Given the description of an element on the screen output the (x, y) to click on. 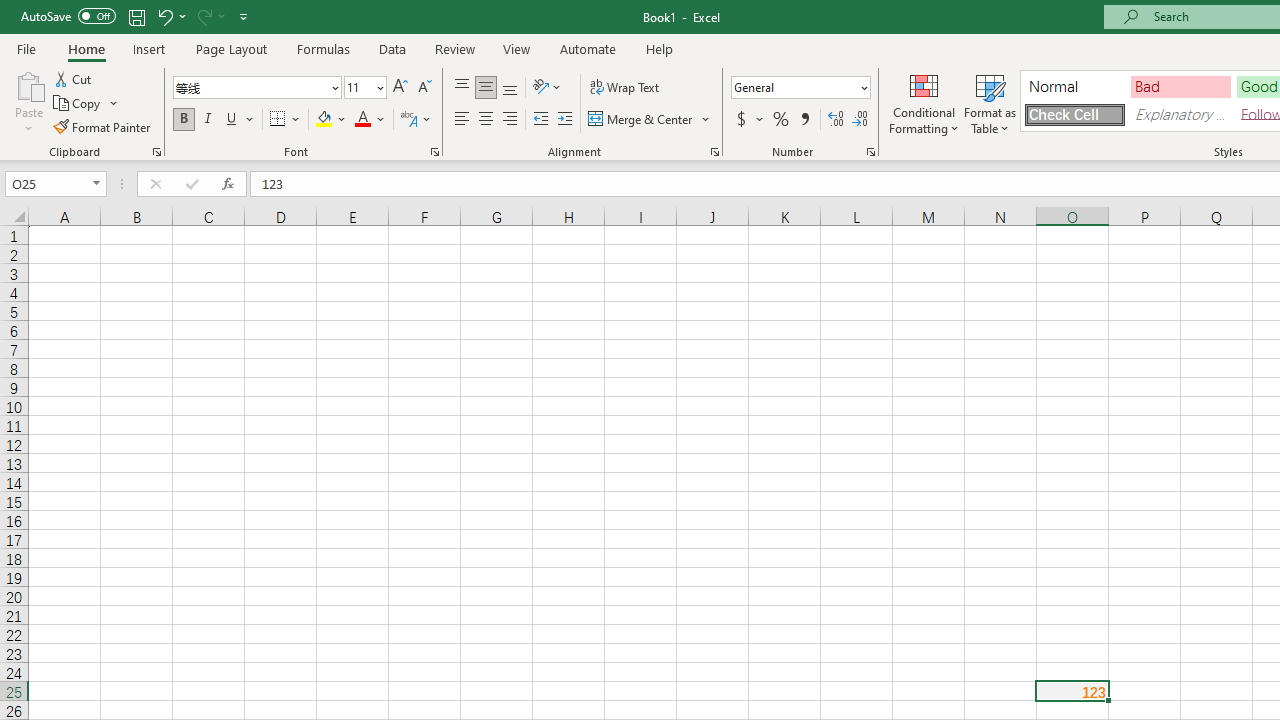
Font (256, 87)
Accounting Number Format (749, 119)
Accounting Number Format (741, 119)
Copy (78, 103)
Check Cell (1074, 114)
Italic (207, 119)
Middle Align (485, 87)
Explanatory Text (1180, 114)
Underline (239, 119)
